Given the description of an element on the screen output the (x, y) to click on. 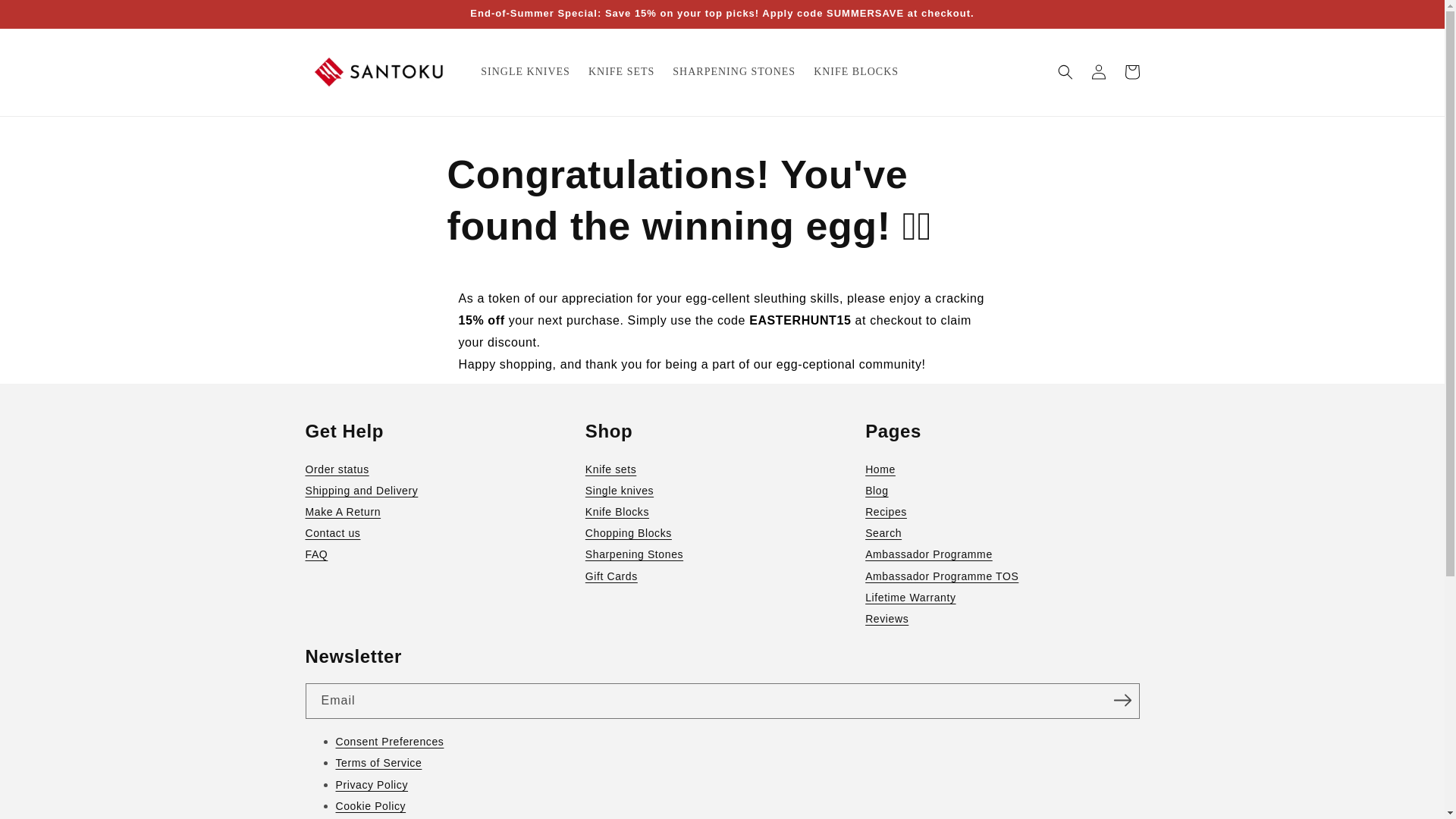
KNIFE BLOCKS (856, 71)
Shipping and Delivery (441, 490)
Skip to content (47, 18)
Order status (441, 468)
Privacy Policy (736, 784)
Recipes (1001, 511)
Ambassador Programme TOS (1001, 576)
Gift Cards (722, 576)
Sharpening Stones (722, 554)
Consent Preferences (736, 741)
